Given the description of an element on the screen output the (x, y) to click on. 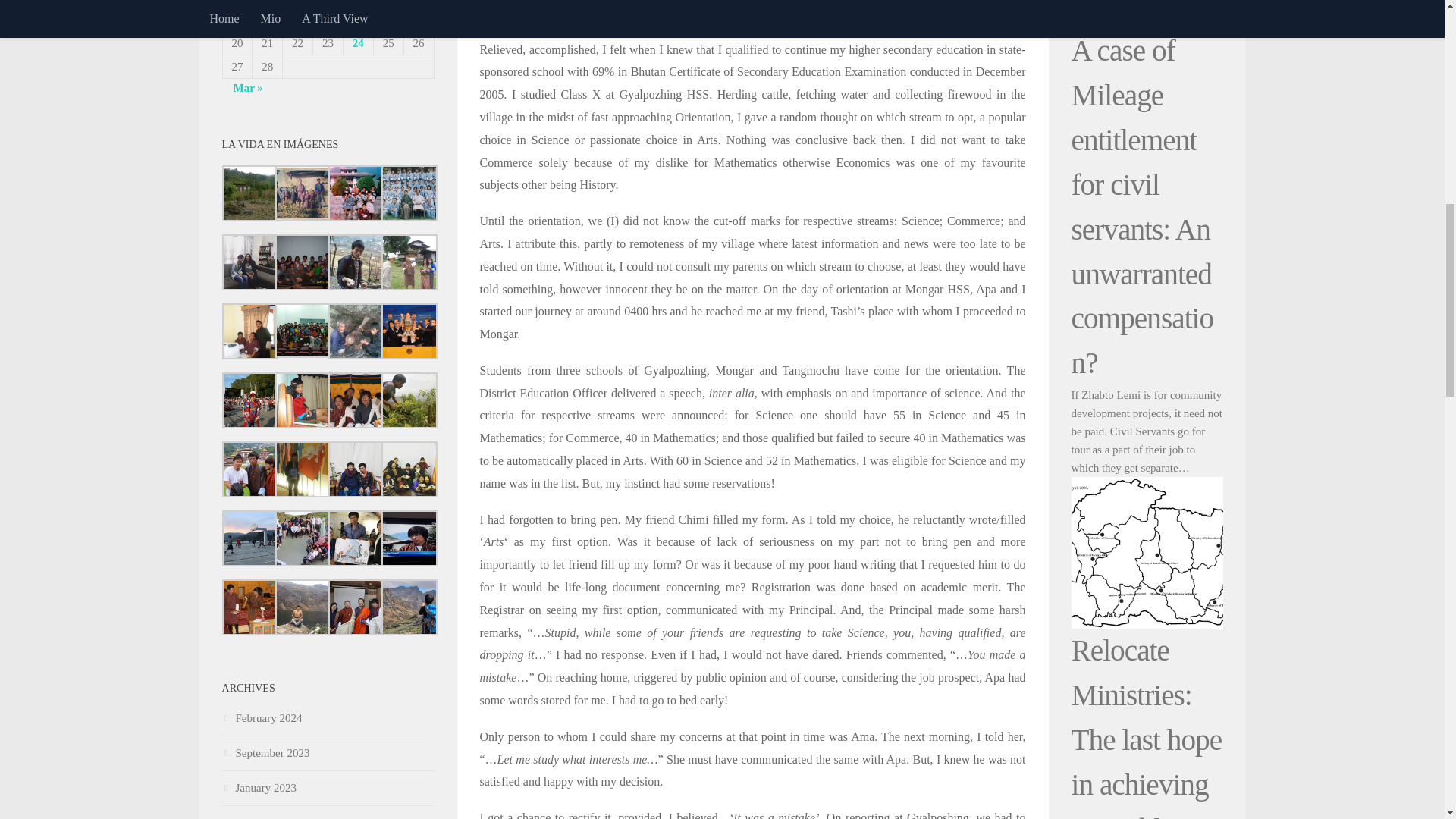
24 (358, 42)
17 (358, 19)
